Given the description of an element on the screen output the (x, y) to click on. 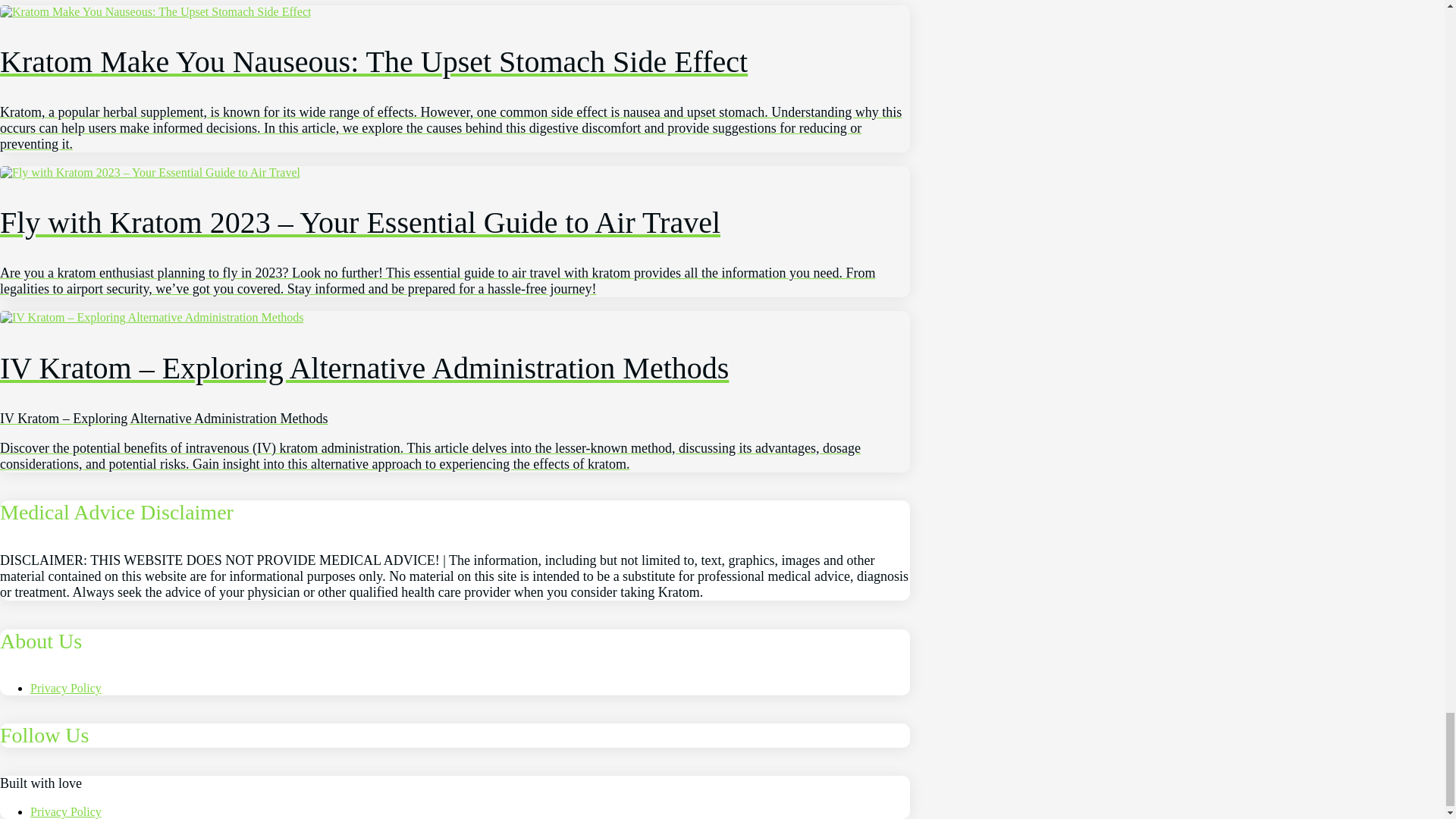
Kratom Make You Nauseous: The Upset Stomach Side Effect (455, 78)
Privacy Policy (65, 811)
Privacy Policy (65, 687)
